Given the description of an element on the screen output the (x, y) to click on. 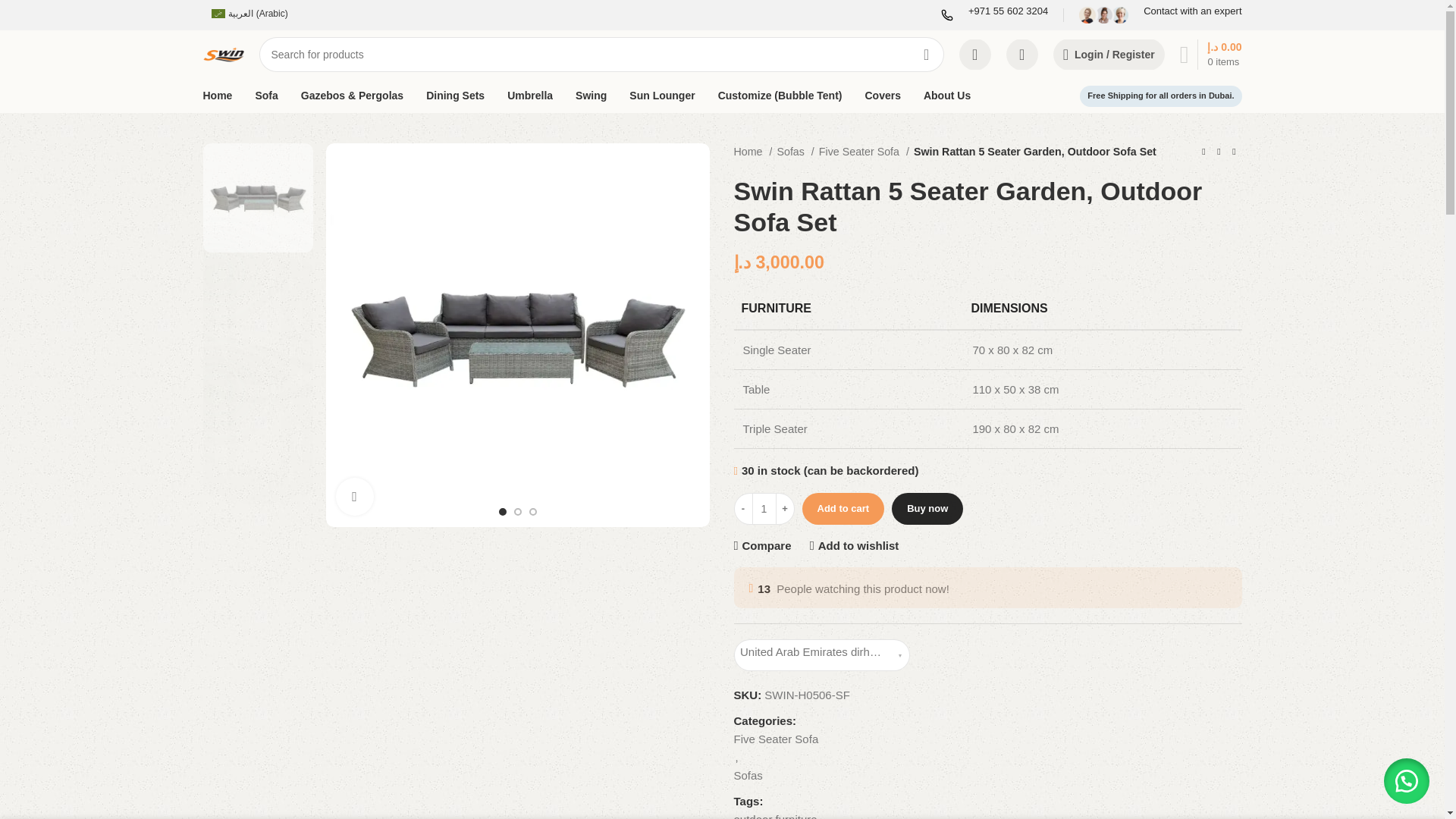
My account (1108, 54)
Shopping cart (1210, 54)
Buy now (926, 508)
My Wishlist (1021, 54)
Compare products (975, 54)
Sofas (794, 151)
Sun Lounger (661, 95)
Five Seater Sofa (863, 151)
Home (753, 151)
